Given the description of an element on the screen output the (x, y) to click on. 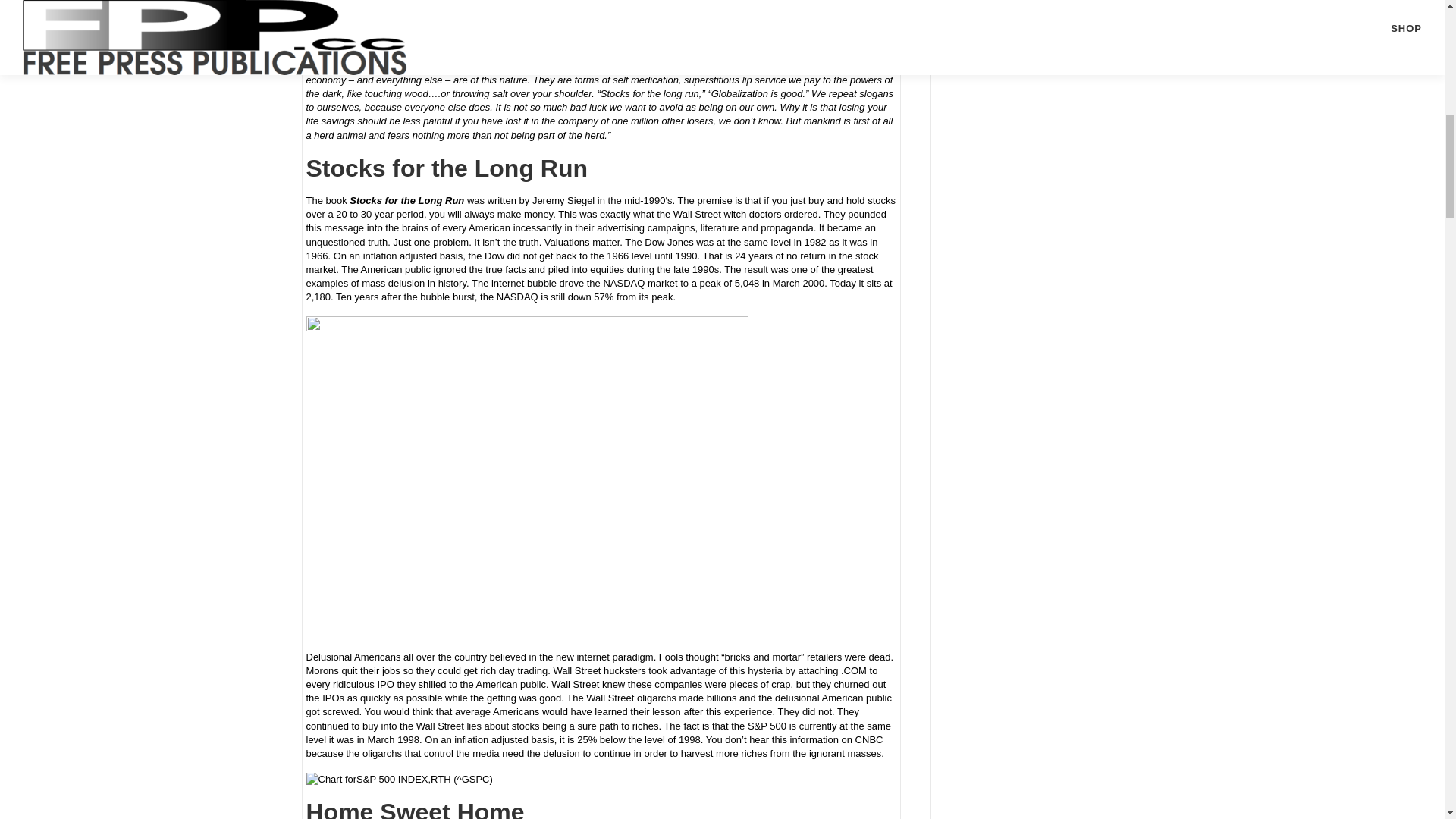
Mobs, Messiahs and Markets (597, 9)
